Given the description of an element on the screen output the (x, y) to click on. 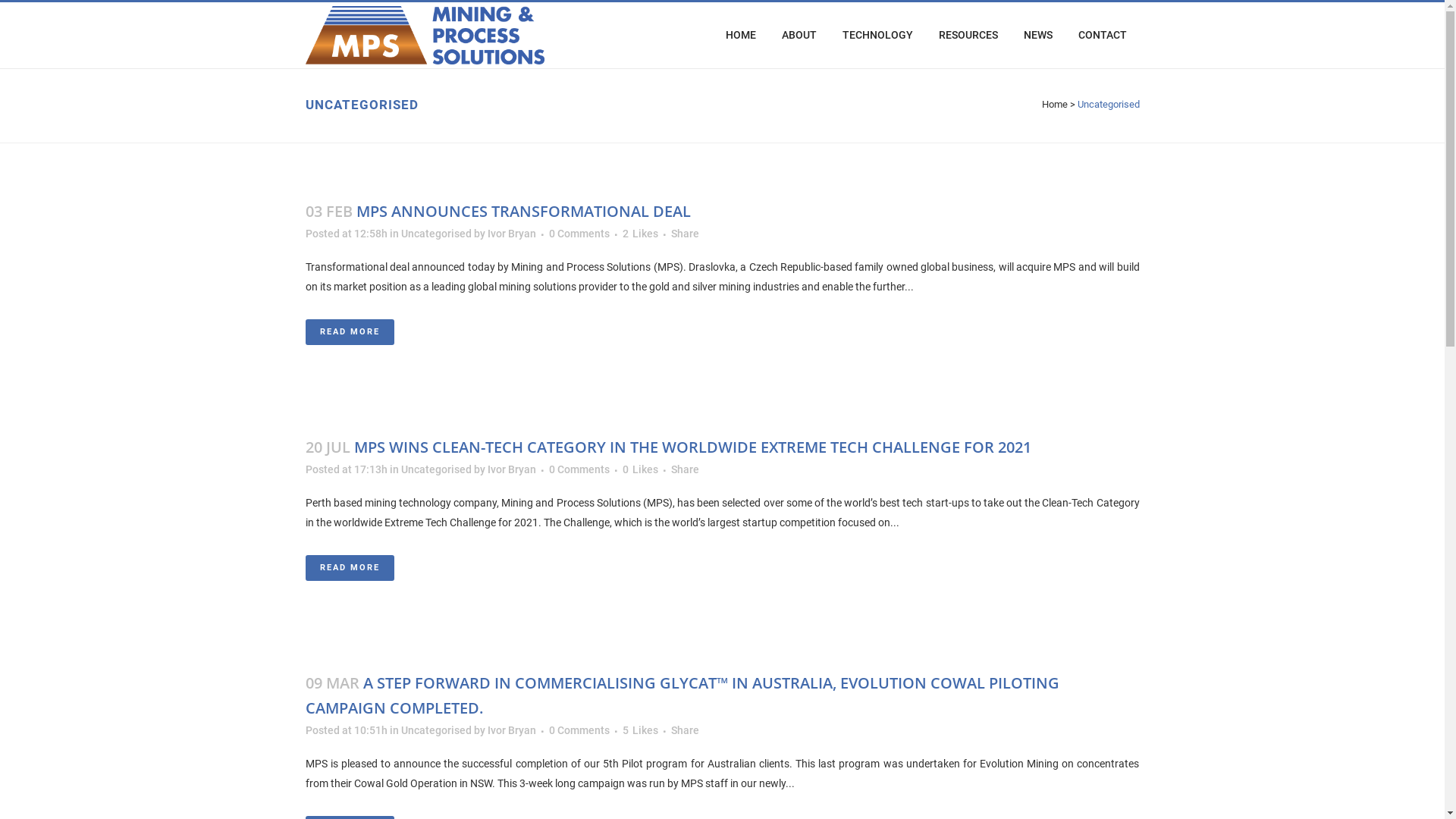
0 Comments Element type: text (579, 233)
Home Element type: text (1054, 103)
Find Us On LinkedIn Element type: text (208, 775)
2 Likes Element type: text (639, 233)
0 Comments Element type: text (579, 730)
0 Comments Element type: text (579, 469)
RESOURCES Element type: text (967, 35)
TECHNOLOGY Element type: text (877, 35)
ABOUT Element type: text (798, 35)
Uncategorised Element type: text (435, 730)
Ivor Bryan Element type: text (510, 730)
Share Element type: text (684, 730)
5 Likes Element type: text (639, 729)
Share Element type: text (684, 233)
CONTACT Element type: text (1101, 35)
0 Likes Element type: text (639, 469)
READ MORE Element type: text (348, 332)
Uncategorised Element type: text (435, 469)
MPS ANNOUNCES TRANSFORMATIONAL DEAL Element type: text (523, 210)
Ivor Bryan Element type: text (510, 469)
Uncategorised Element type: text (435, 233)
HOME Element type: text (740, 35)
Ivor Bryan Element type: text (510, 233)
Share Element type: text (684, 469)
READ MORE Element type: text (348, 567)
Site Credits  Element type: text (299, 775)
NEWS Element type: text (1037, 35)
